Given the description of an element on the screen output the (x, y) to click on. 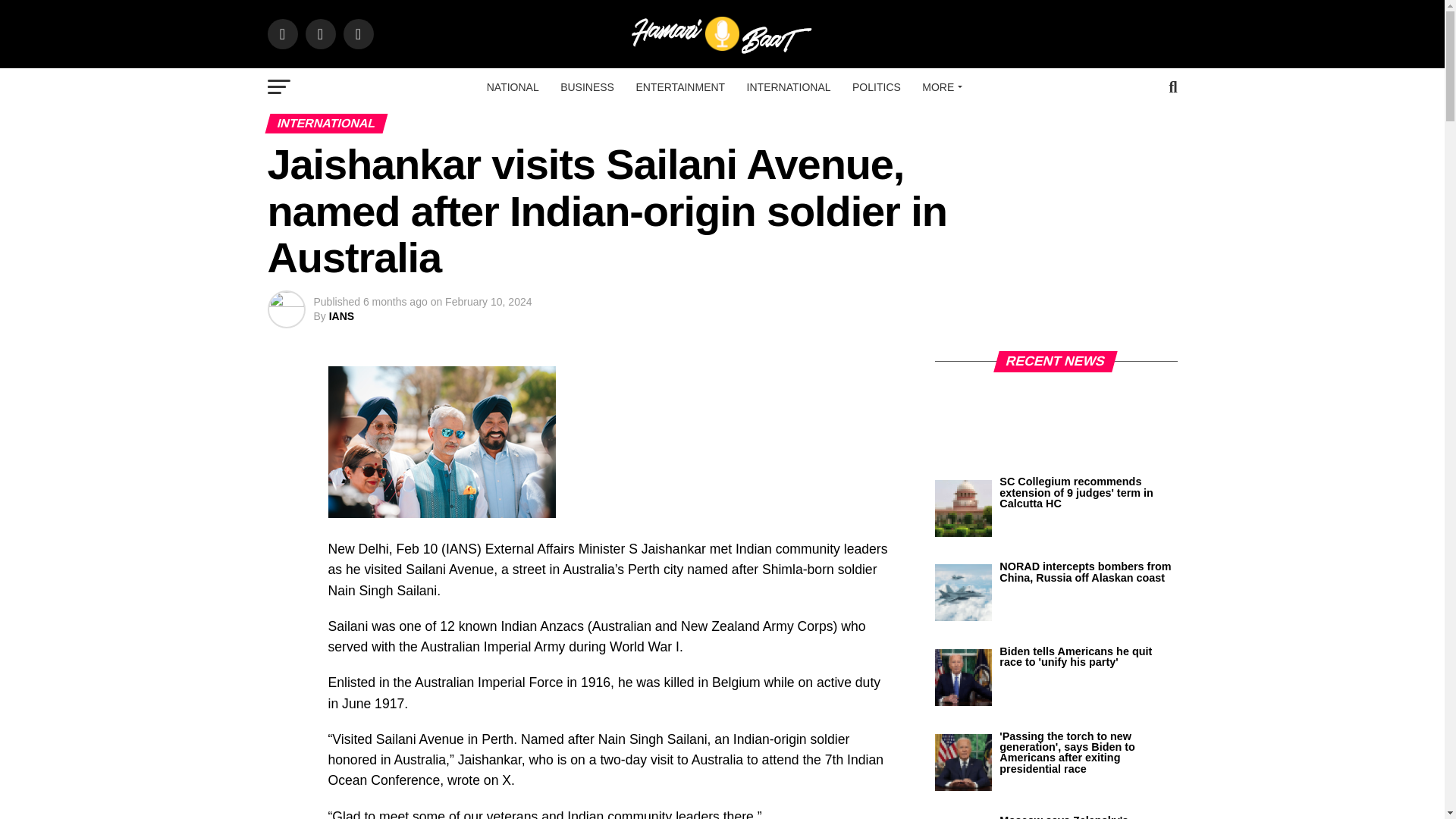
NATIONAL (512, 86)
ENTERTAINMENT (679, 86)
BUSINESS (587, 86)
INTERNATIONAL (789, 86)
